Given the description of an element on the screen output the (x, y) to click on. 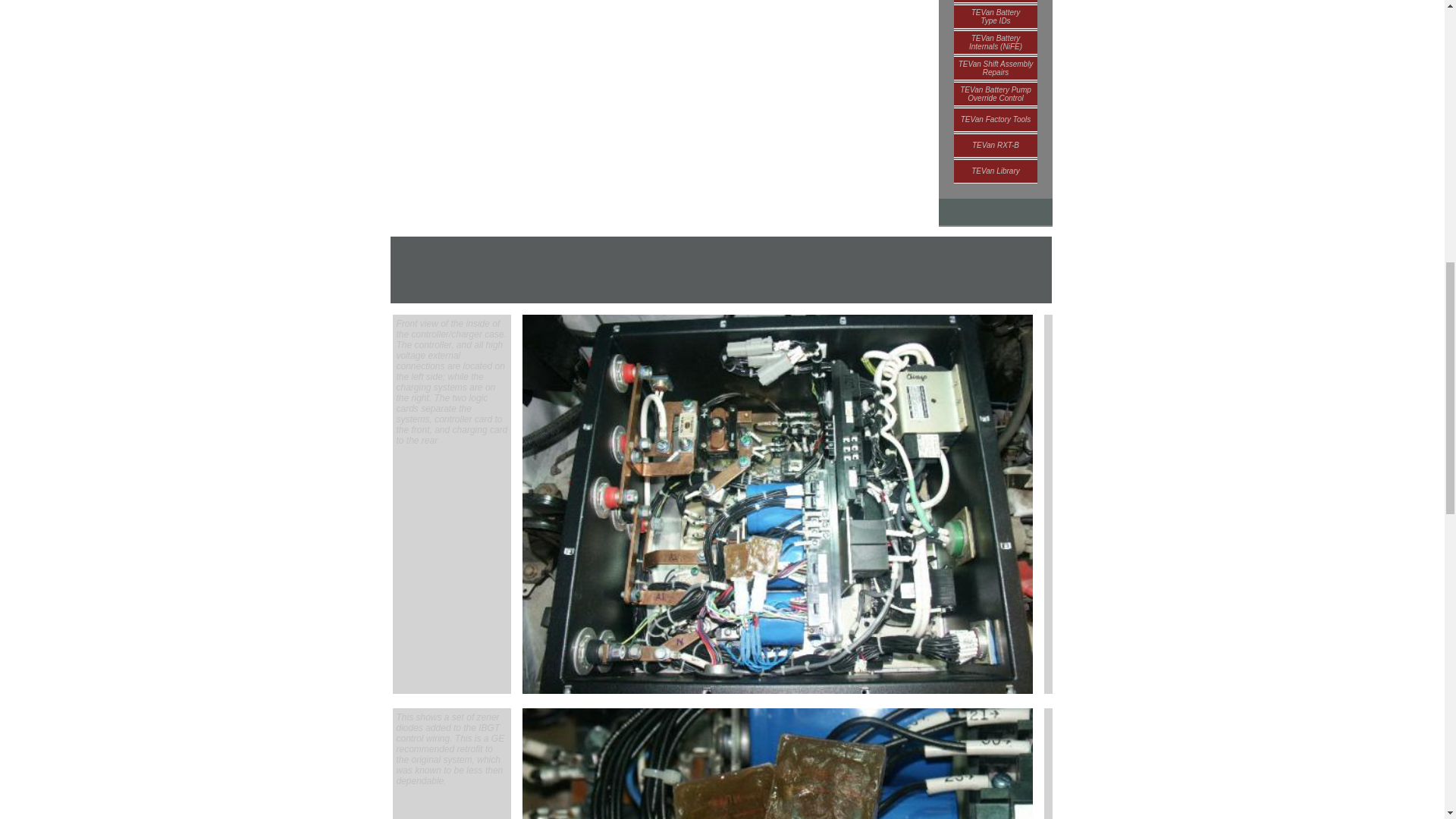
TEVan Library (994, 15)
TEVan Battery Monitoring (994, 170)
TEVan Factory Tools (994, 1)
TEVan RXT-B (994, 118)
TEVan Battery Pump Override Control (994, 144)
TEVan Shift Assembly Repairs (994, 93)
